Given the description of an element on the screen output the (x, y) to click on. 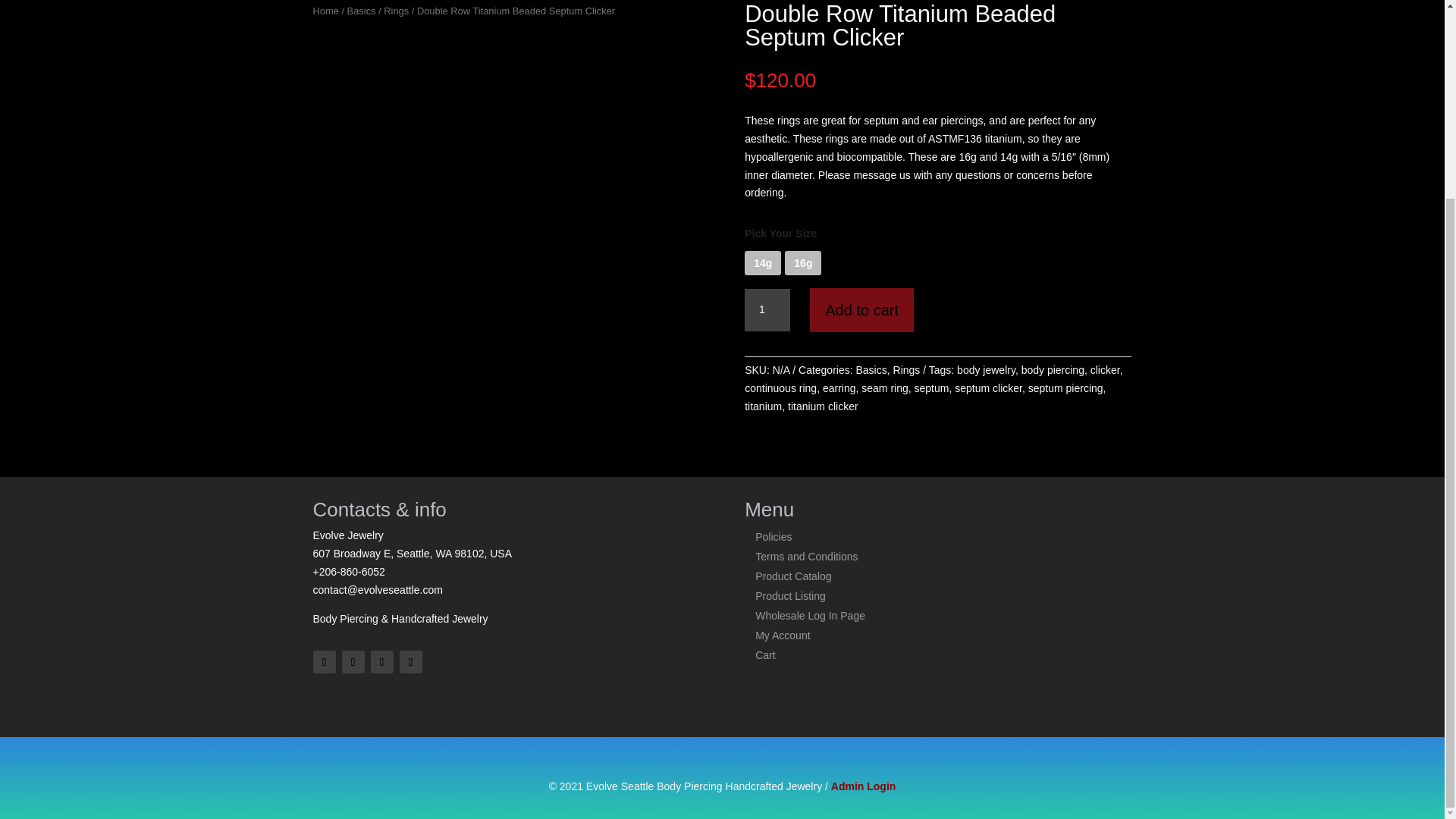
Follow on tumblr (410, 661)
Follow on Instagram (381, 661)
1 (767, 310)
Follow on Facebook (323, 661)
Follow on Twitter (352, 661)
